Given the description of an element on the screen output the (x, y) to click on. 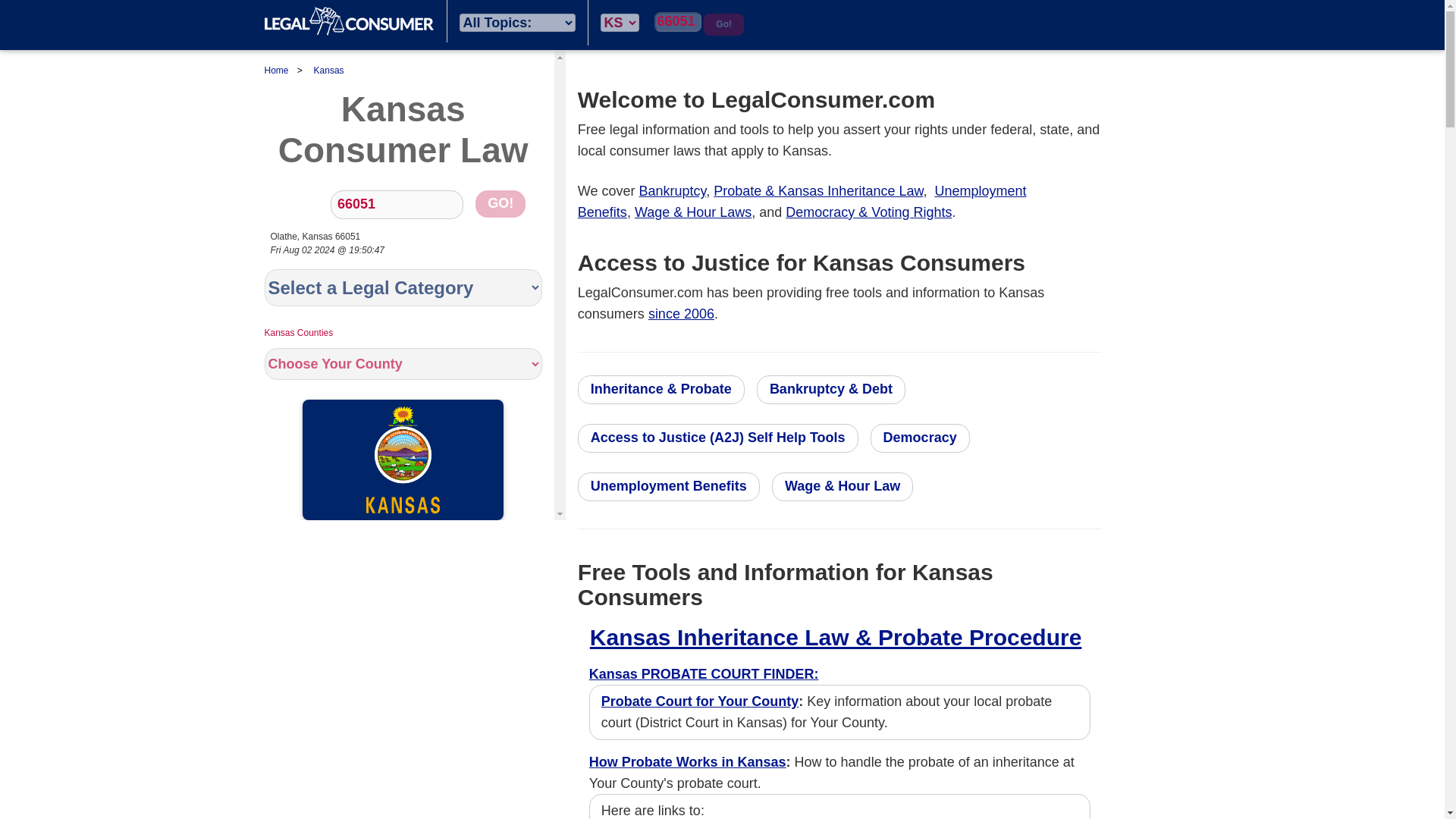
Home (348, 21)
GO! (500, 203)
Home (276, 70)
Go! (723, 24)
66051 (396, 204)
66051 (677, 21)
Probate Court for Your County (699, 701)
Unemployment Benefits (802, 201)
Kansas PROBATE COURT FINDER: (703, 672)
How Probate Works in Kansas (687, 761)
Kansas (328, 70)
Bankruptcy (672, 191)
since 2006 (680, 313)
